Given the description of an element on the screen output the (x, y) to click on. 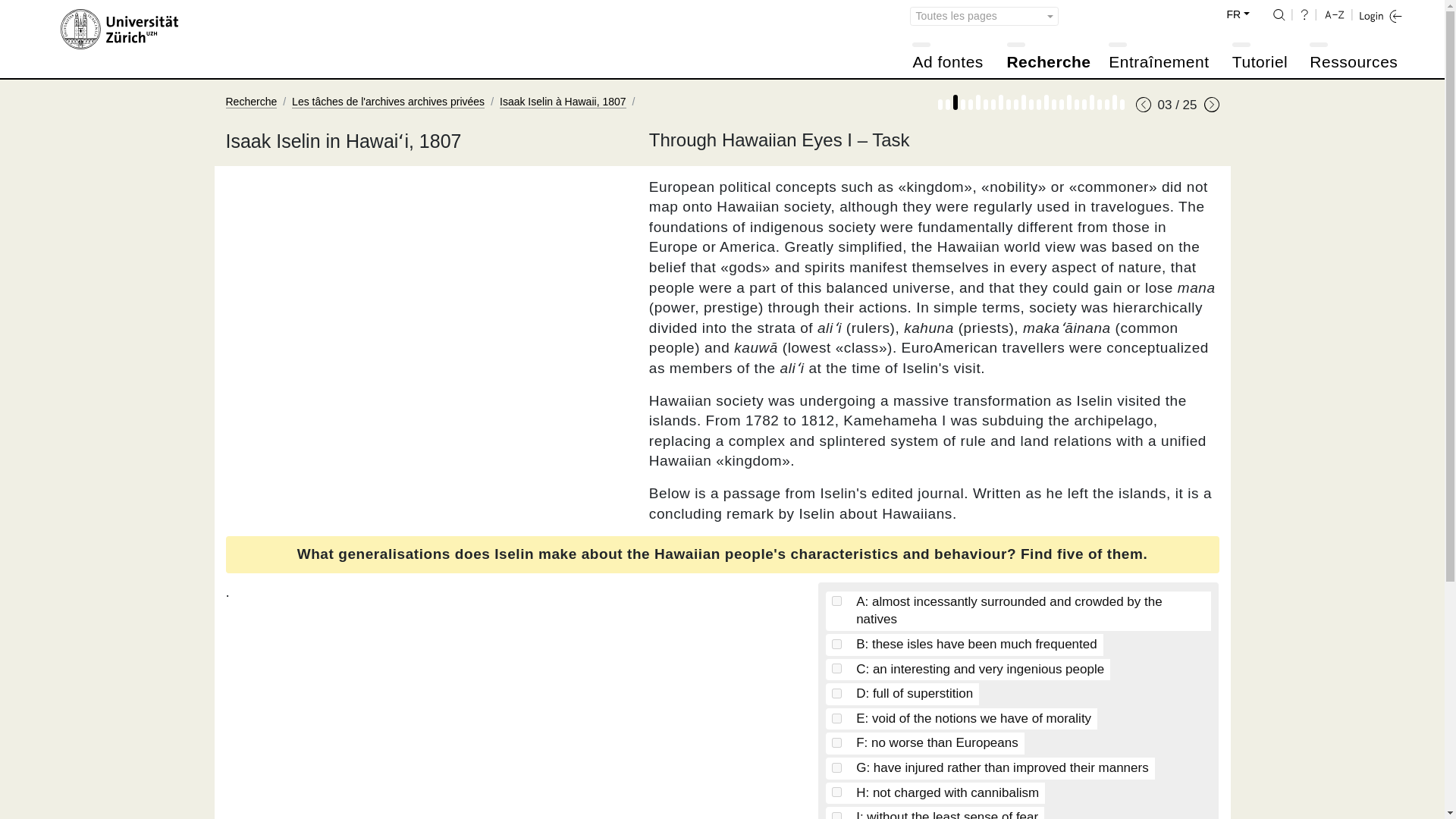
1 (836, 718)
1 (836, 644)
Ad fontes (950, 62)
1 (836, 815)
1 (836, 668)
1 (836, 601)
1 (836, 693)
1 (836, 791)
FR (1240, 14)
Ad fontes (950, 62)
